Given the description of an element on the screen output the (x, y) to click on. 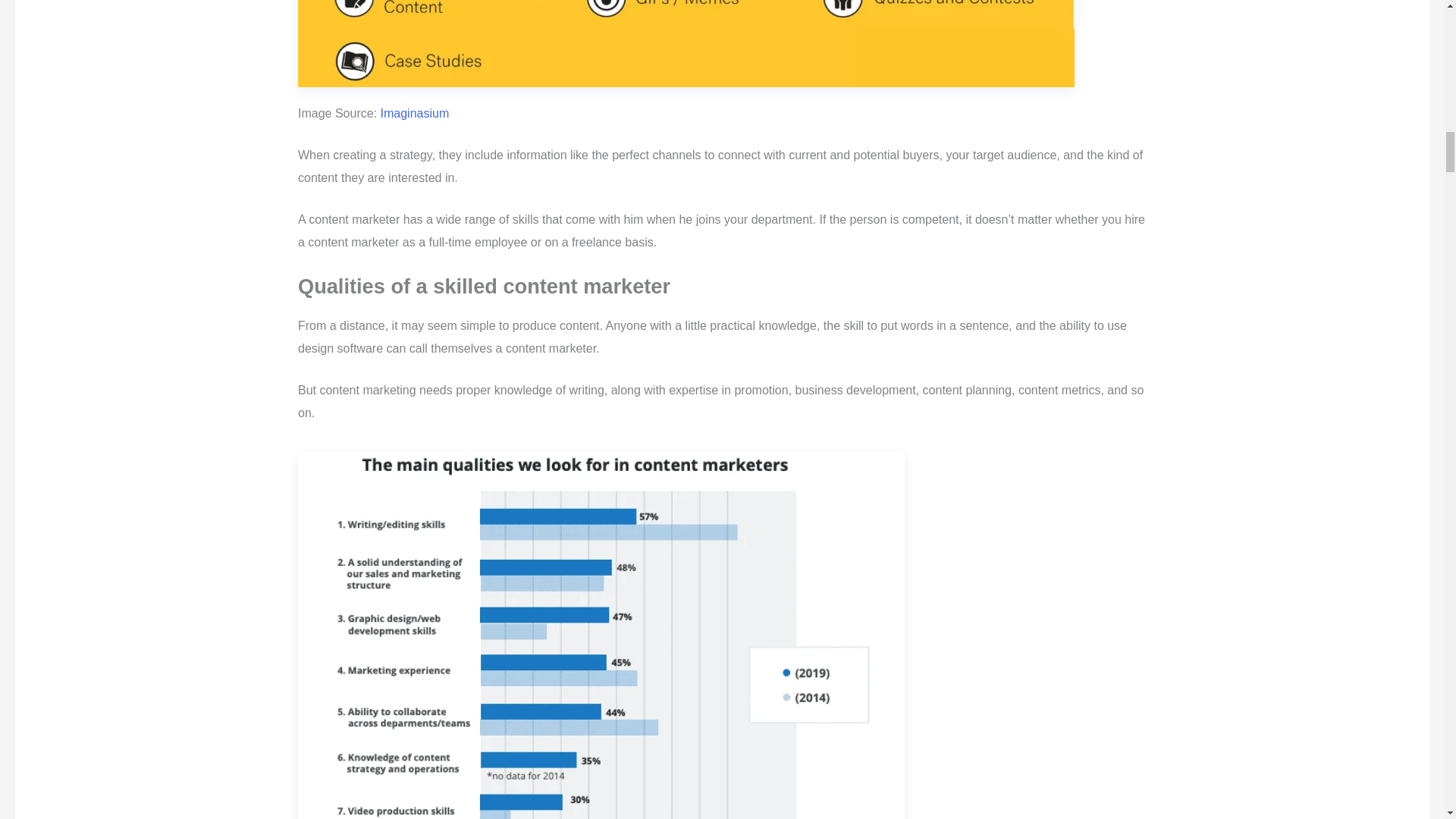
content-marketing-formats (686, 43)
